Given the description of an element on the screen output the (x, y) to click on. 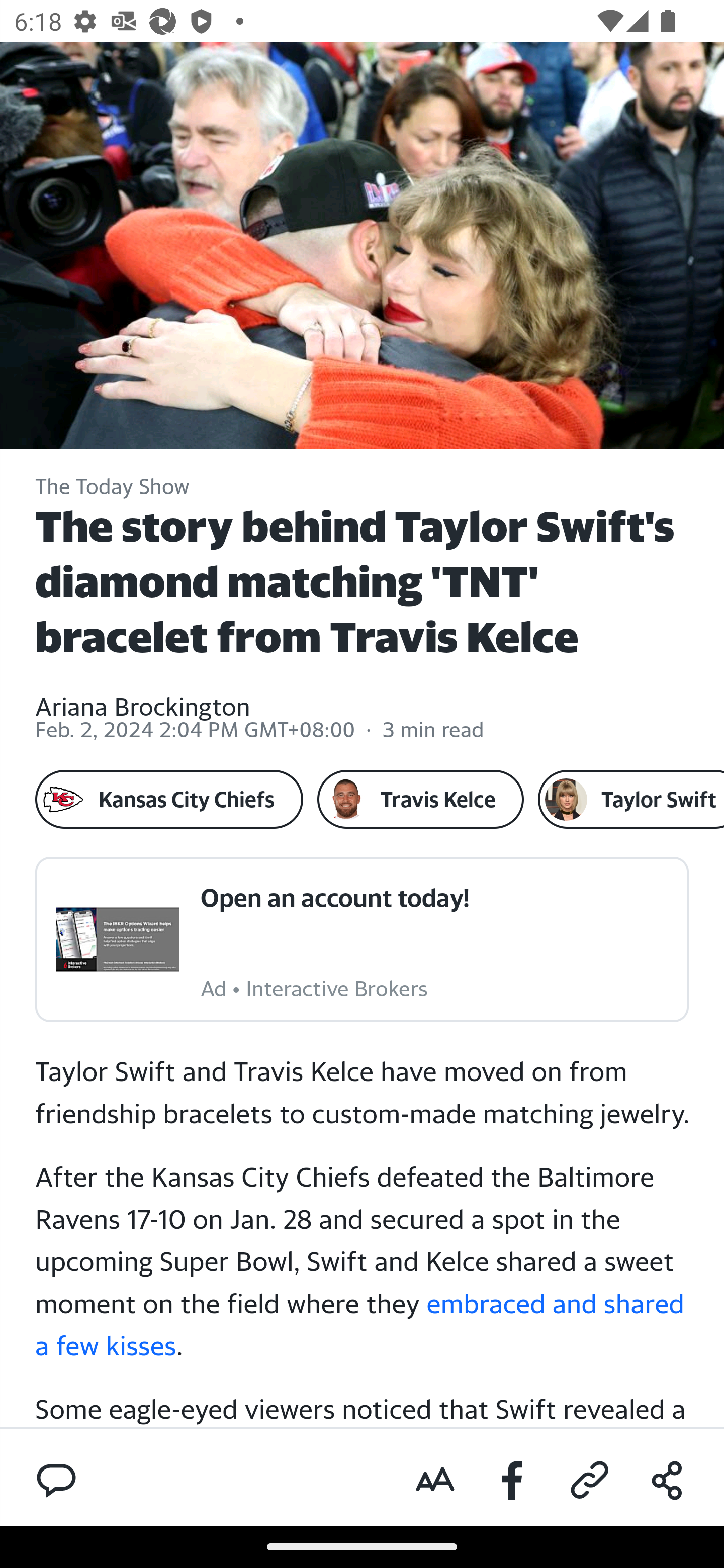
The Today Show (112, 487)
Kansas City Chiefs (169, 799)
Travis Kelce (420, 799)
Taylor Swift (630, 799)
embraced and shared a few kisses (360, 1323)
View Comments (56, 1479)
Font size (435, 1480)
Share link on Facebook (512, 1480)
Copy link (590, 1480)
Share article (667, 1480)
